Given the description of an element on the screen output the (x, y) to click on. 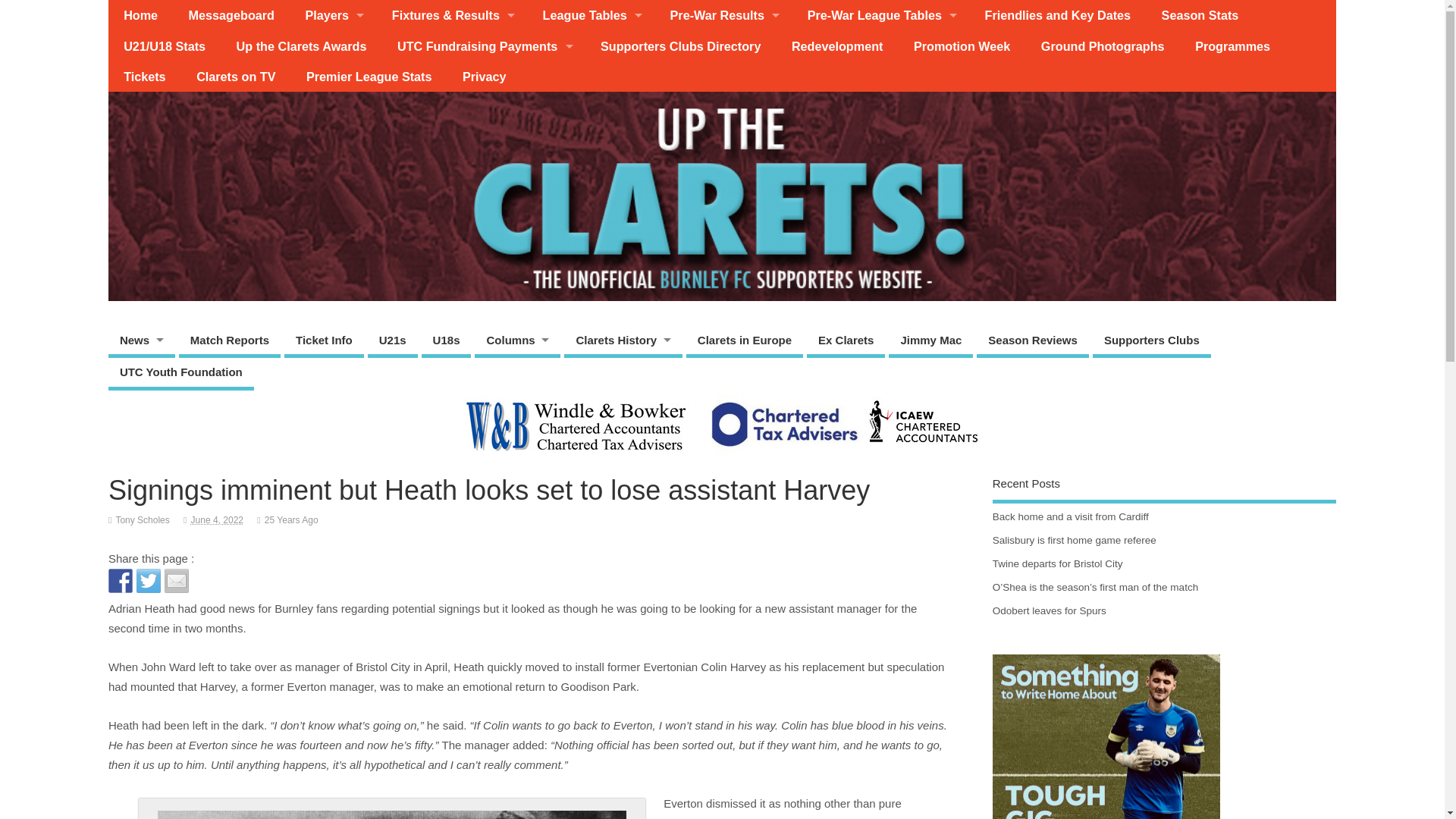
Messageboard (231, 15)
Share by email (176, 580)
Share on Facebook (119, 580)
Home (140, 15)
Messageboard (231, 15)
Posts by Tony Scholes (141, 520)
Share on Twitter (148, 580)
Players (332, 15)
